Given the description of an element on the screen output the (x, y) to click on. 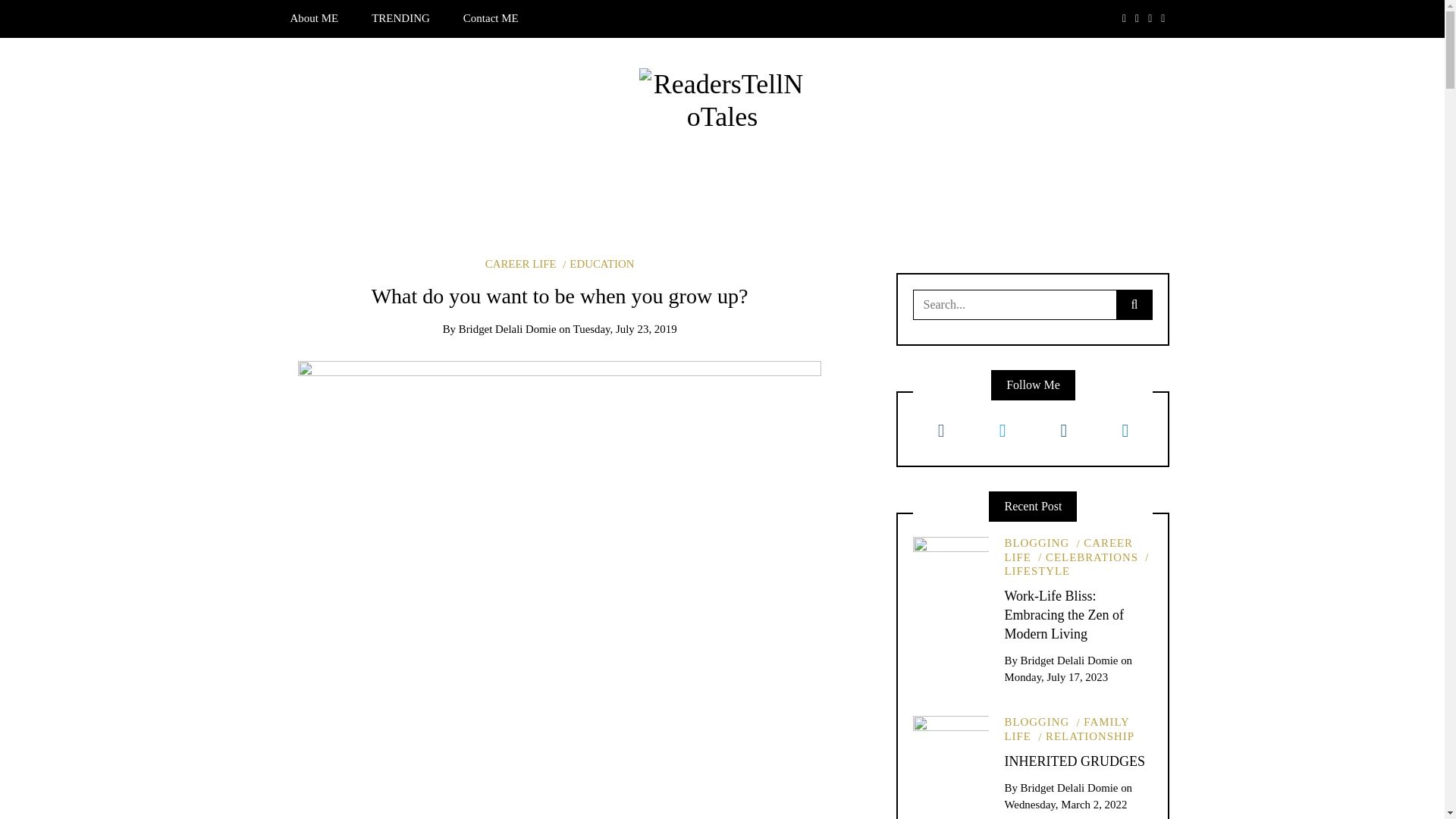
Contact ME (491, 18)
Bridget Delali Domie (507, 328)
EDUCATION (597, 263)
CAREER LIFE (520, 263)
Permalink to: "What do you want to be when you grow up?" (559, 664)
TRENDING (400, 18)
Permalink to INHERITED GRUDGES (1074, 761)
Tuesday, July 23, 2019 (625, 328)
Permalink to: "INHERITED GRUDGES" (950, 752)
About ME (314, 18)
Posts by Bridget Delali Domie (507, 328)
